Given the description of an element on the screen output the (x, y) to click on. 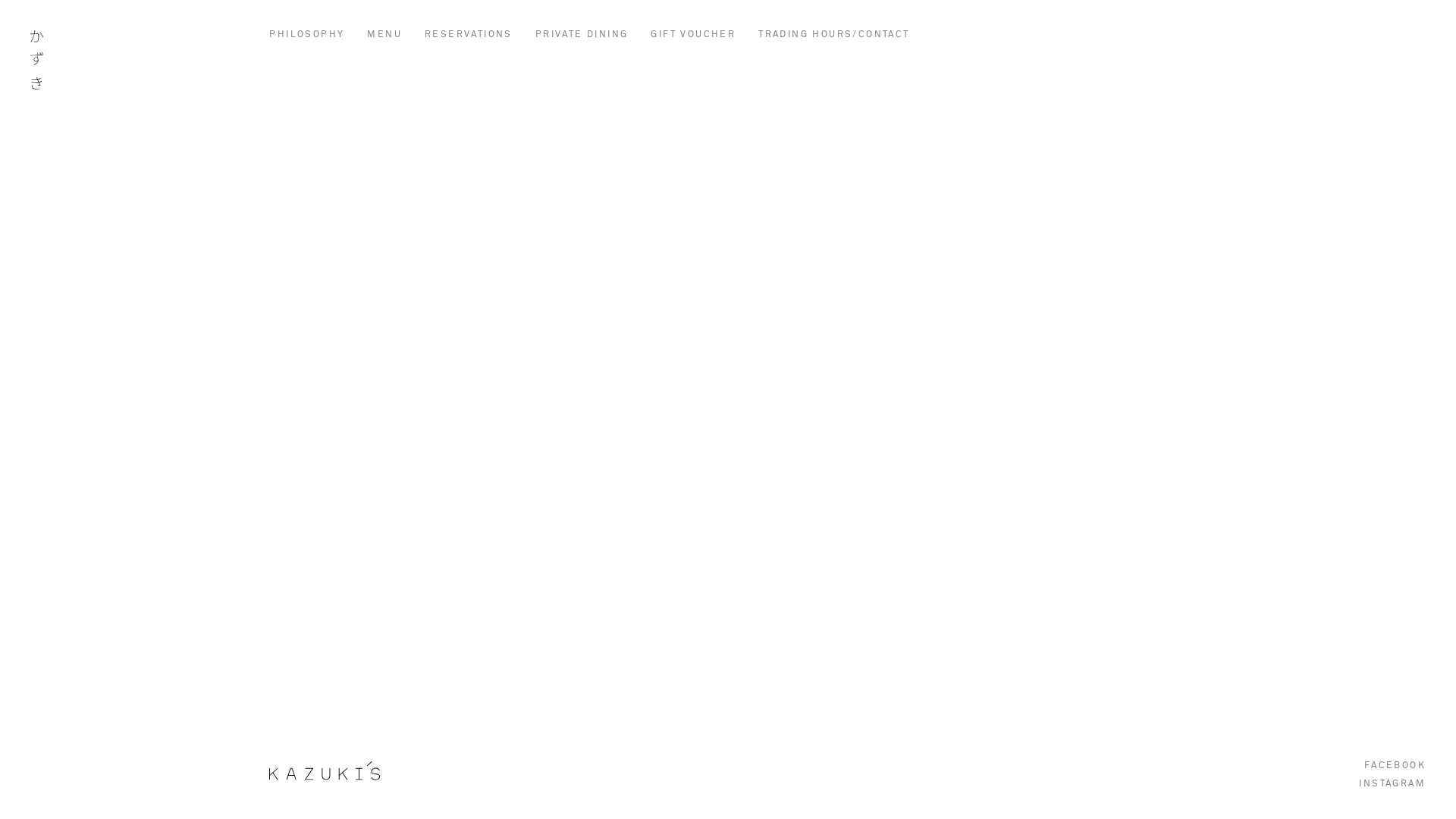
FACEBOOK Element type: text (1394, 765)
TRADING HOURS/CONTACT Element type: text (833, 34)
PRIVATE DINING Element type: text (581, 34)
GIFT VOUCHER Element type: text (692, 34)
MENU Element type: text (384, 34)
PHILOSOPHY Element type: text (306, 34)
RESERVATIONS Element type: text (468, 34)
INSTAGRAM Element type: text (1391, 783)
